Given the description of an element on the screen output the (x, y) to click on. 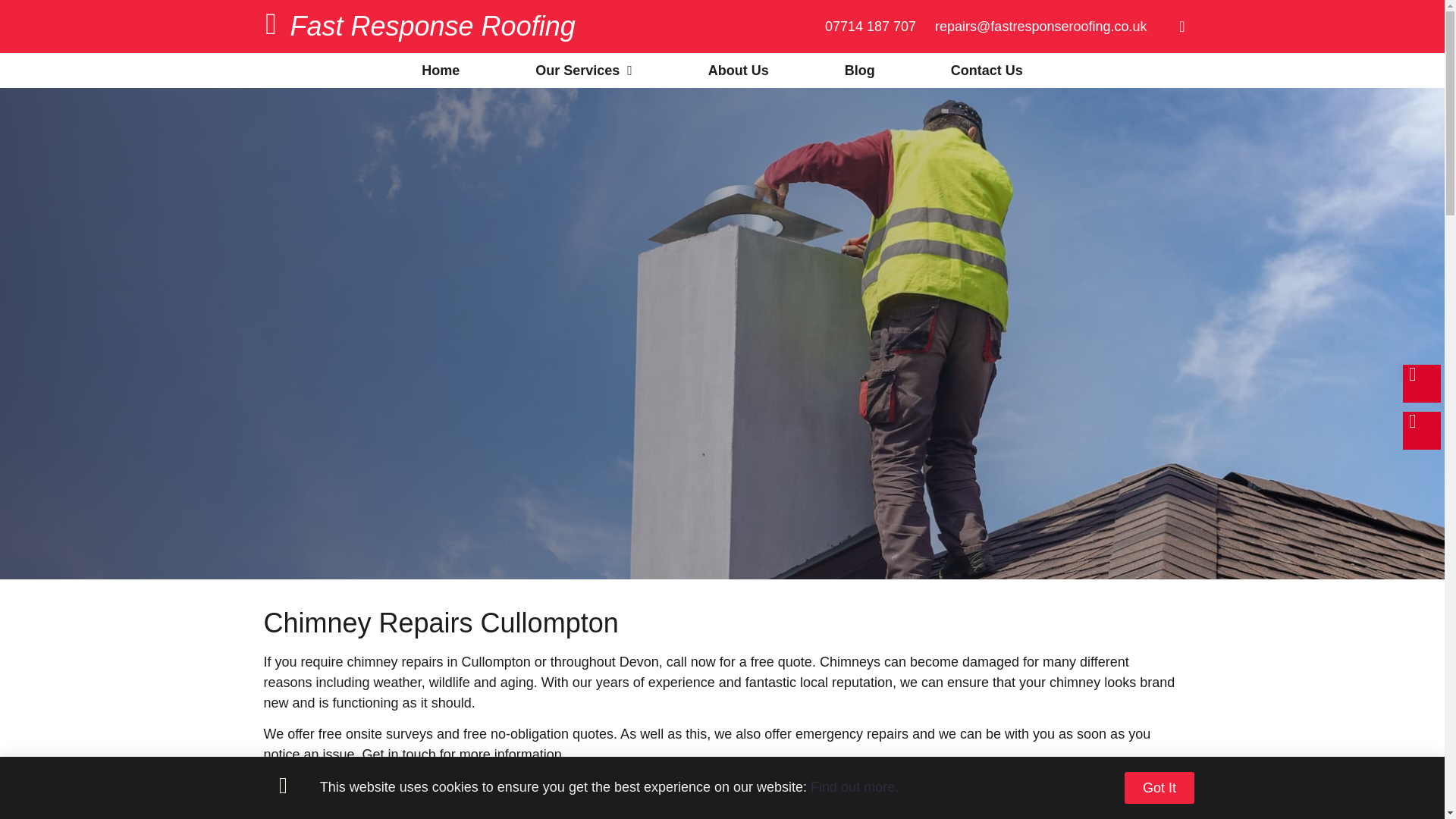
Blog (859, 70)
Home (440, 70)
Contact Our Roofers Today (370, 797)
Fast Response Roofing (432, 25)
Our Services (583, 70)
07714 187 707 (870, 26)
About Us (738, 70)
Contact Us (987, 70)
